Given the description of an element on the screen output the (x, y) to click on. 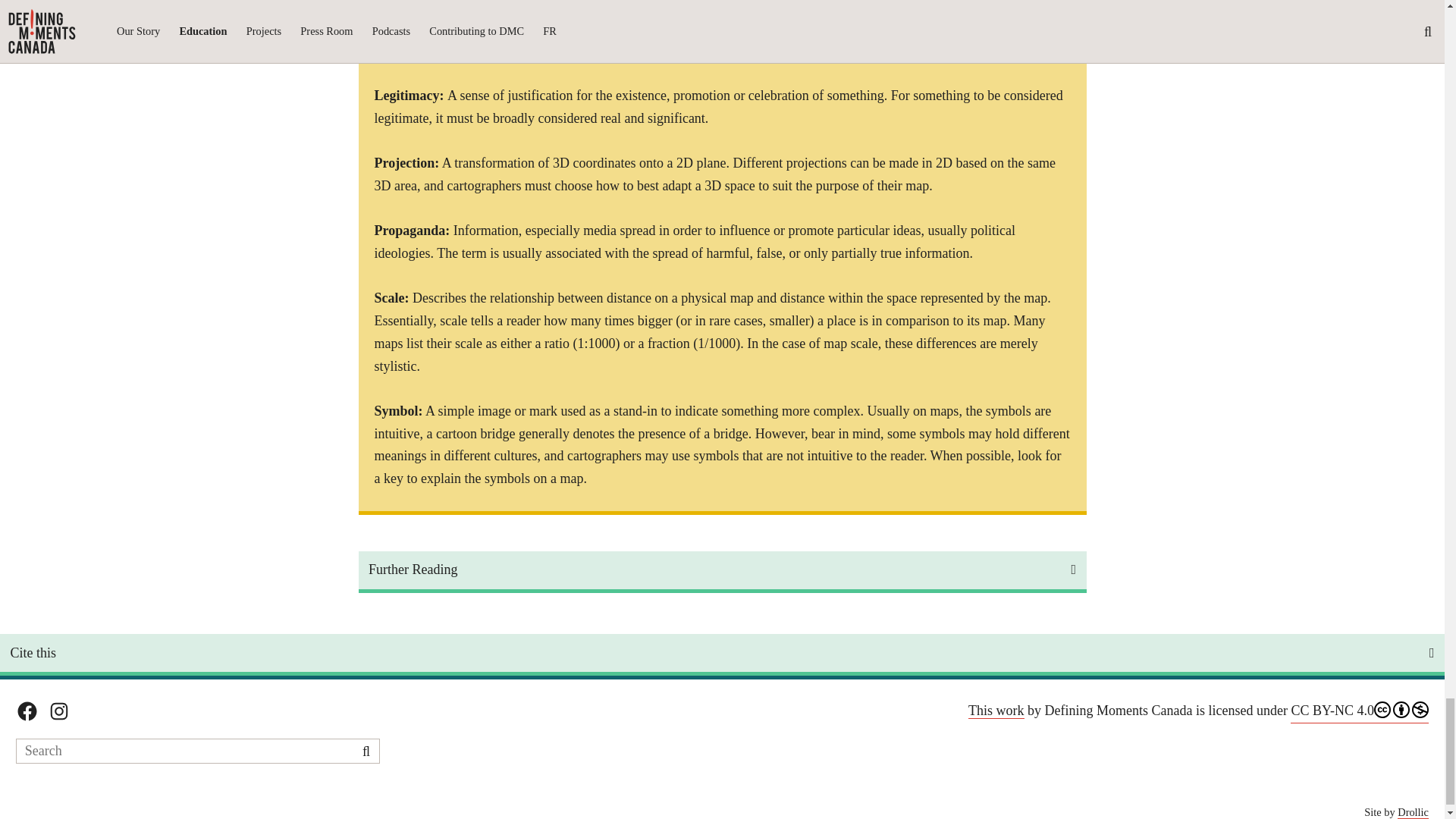
This work (996, 710)
CC BY-NC 4.0 (1359, 711)
Instagram (58, 711)
Facebook (27, 711)
Search (366, 751)
